Given the description of an element on the screen output the (x, y) to click on. 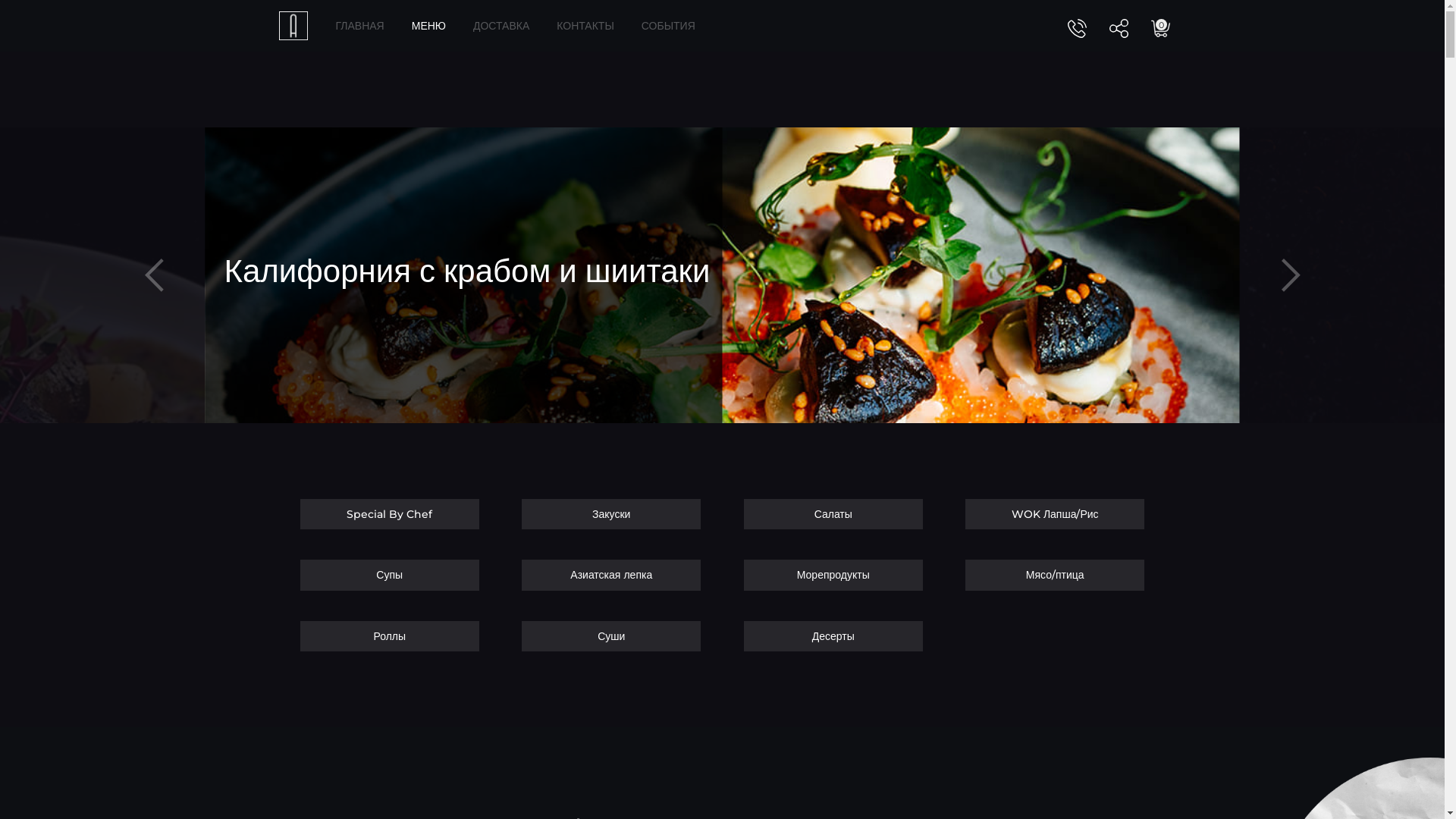
architector Element type: hover (293, 24)
0 Element type: text (1160, 26)
Special By Chef Element type: text (389, 513)
